Given the description of an element on the screen output the (x, y) to click on. 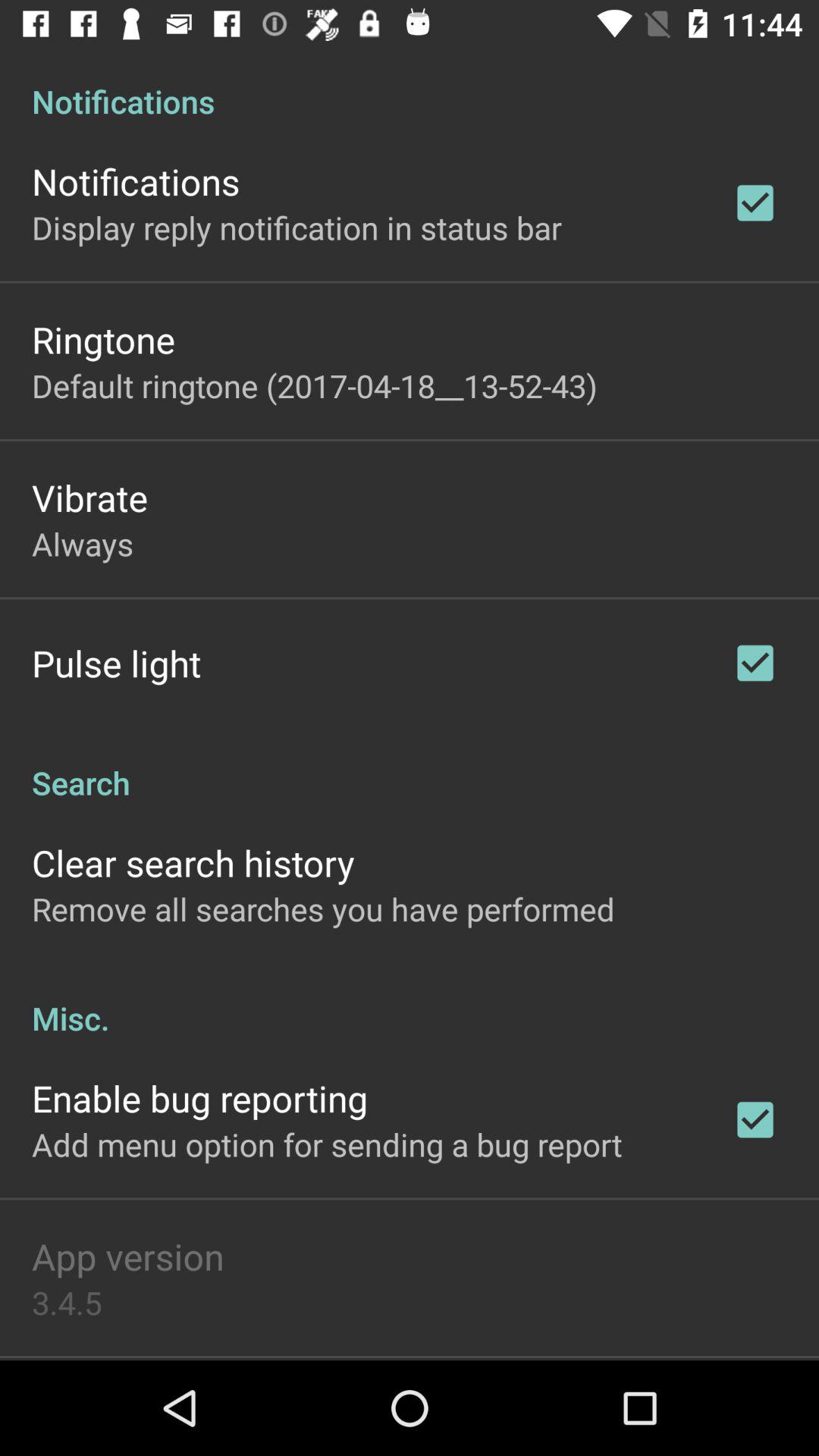
jump until clear search history (192, 862)
